Given the description of an element on the screen output the (x, y) to click on. 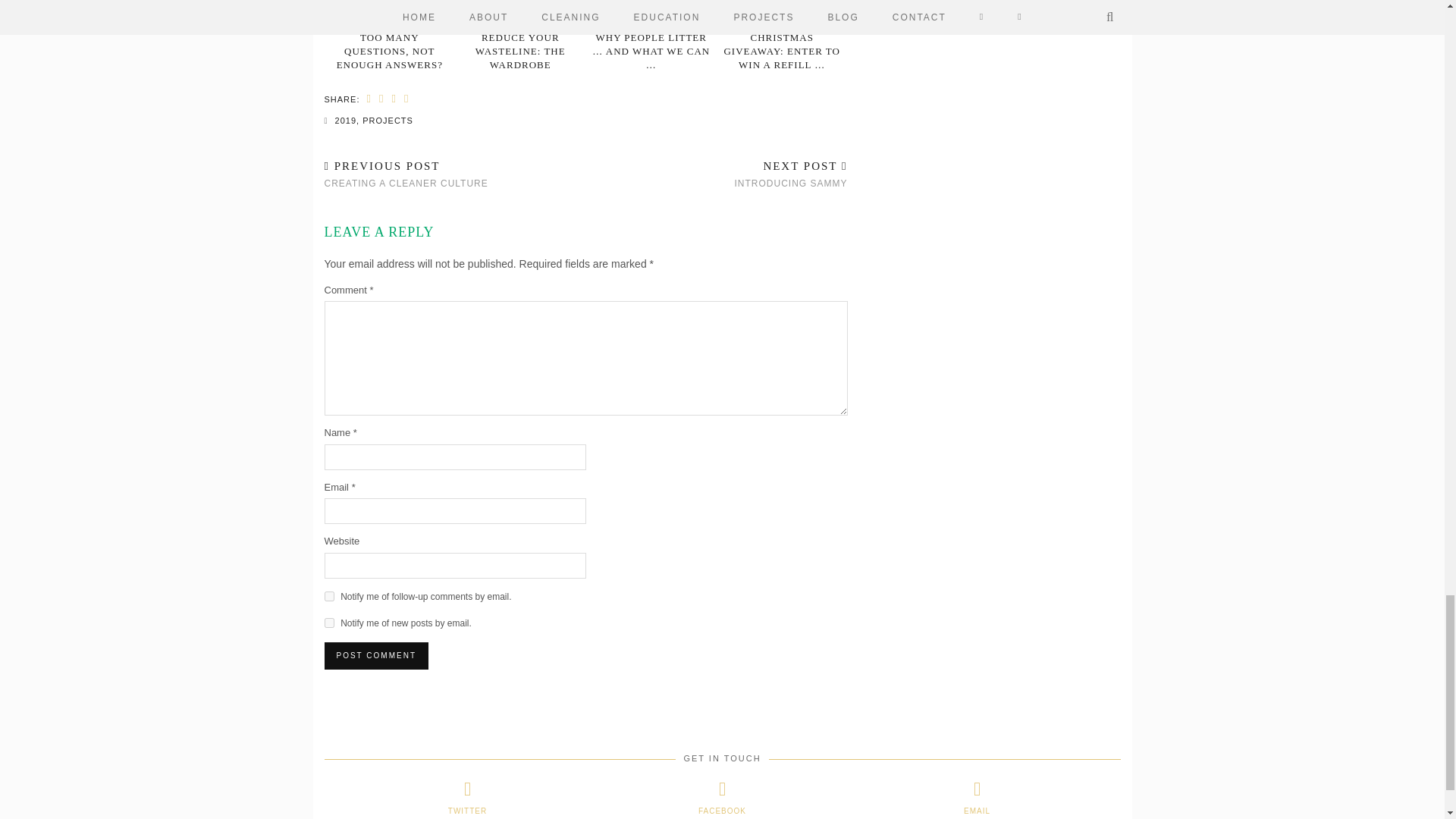
Too many questions, not enough answers? (389, 11)
CHRISTMAS GIVEAWAY: Enter to win a Refill Chippenham Bottle (781, 11)
2019 (345, 116)
subscribe (329, 592)
Reduce Your Wasteline: The Wardrobe (520, 11)
Post Comment (376, 651)
subscribe (329, 619)
Too many questions, not enough answers? (389, 46)
REDUCE YOUR WASTELINE: THE WARDROBE (521, 46)
Reduce Your Wasteline: The Wardrobe (521, 46)
